Given the description of an element on the screen output the (x, y) to click on. 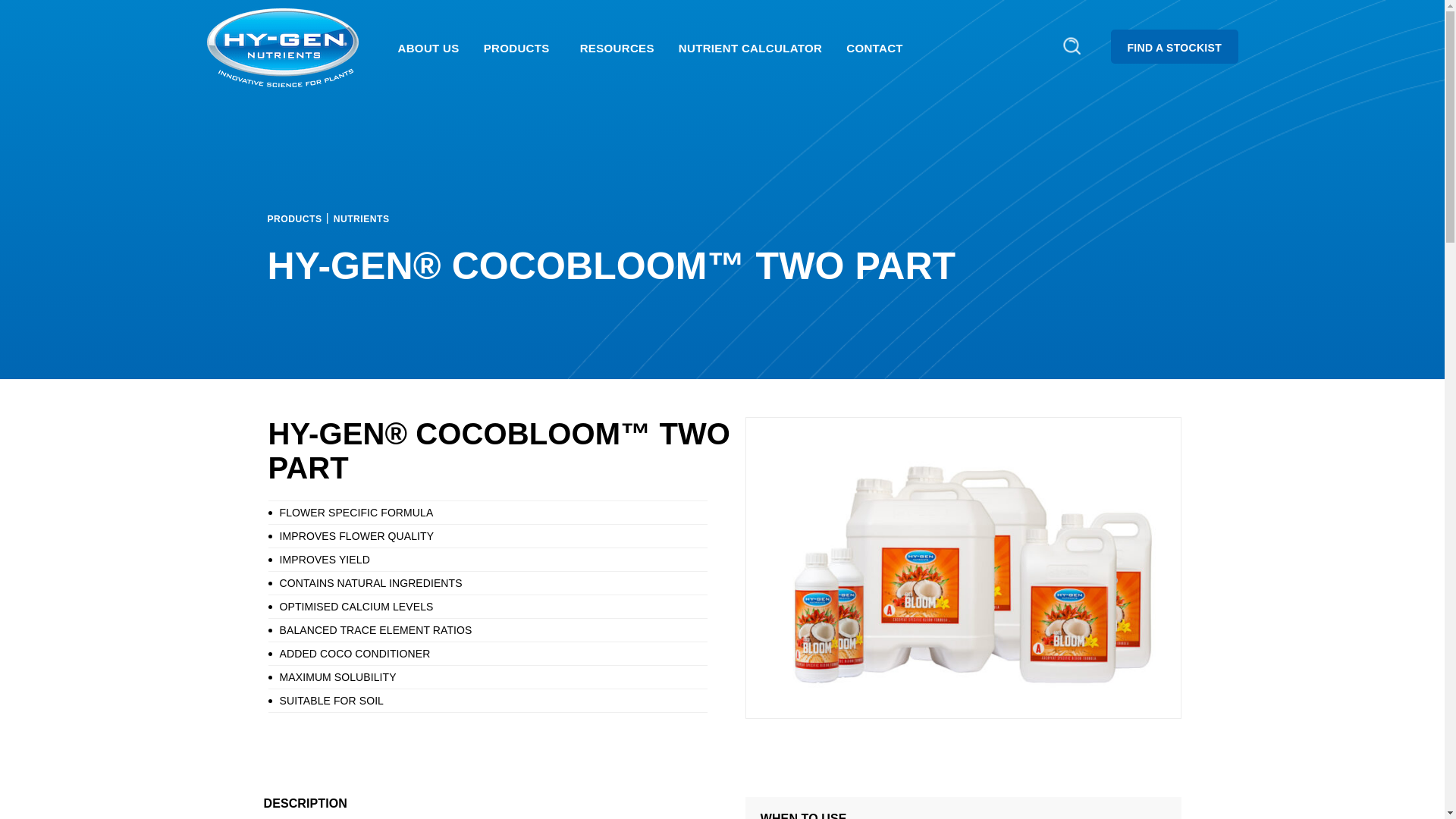
Go to Products. (293, 217)
RESOURCES (616, 47)
ABOUT US (427, 47)
NUTRIENT CALCULATOR (750, 47)
Go to the NUTRIENTS Product category archives. (361, 217)
CONTACT (874, 47)
PRODUCTS (519, 47)
